Given the description of an element on the screen output the (x, y) to click on. 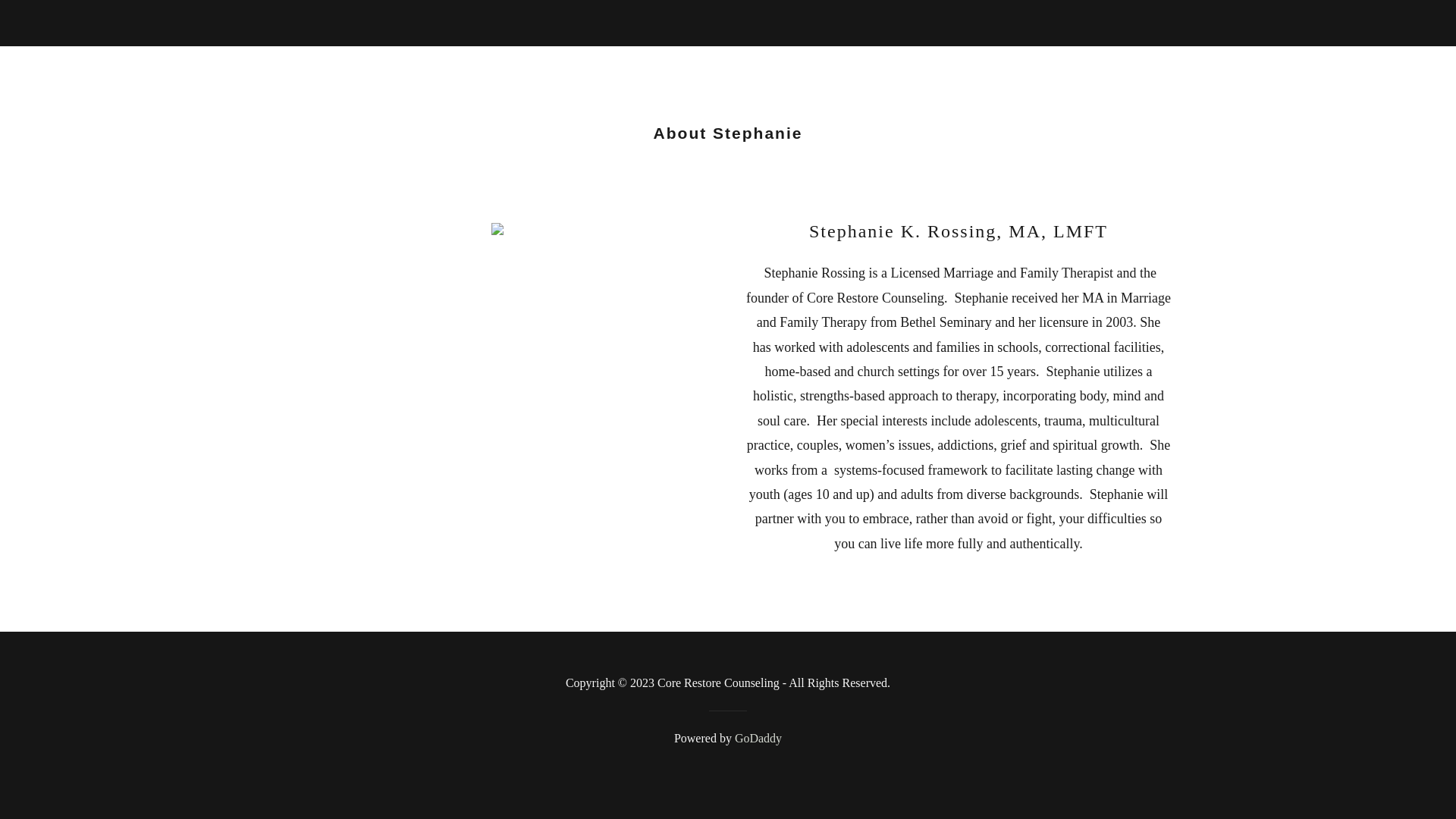
GoDaddy (758, 738)
